Given the description of an element on the screen output the (x, y) to click on. 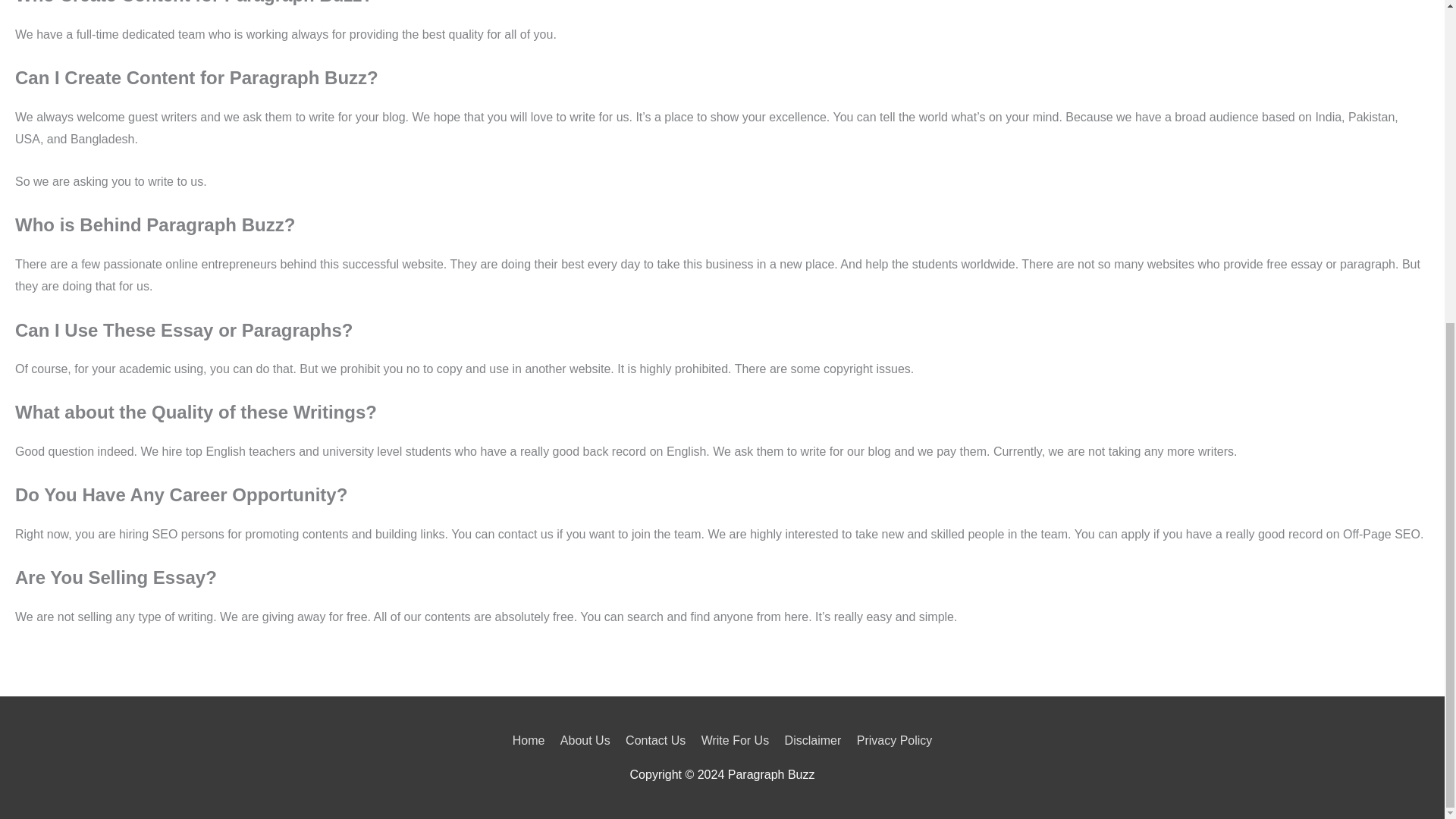
About Us (584, 739)
Privacy Policy (891, 739)
Write For Us (734, 739)
Home (531, 739)
Disclaimer (812, 739)
Contact Us (655, 739)
